Given the description of an element on the screen output the (x, y) to click on. 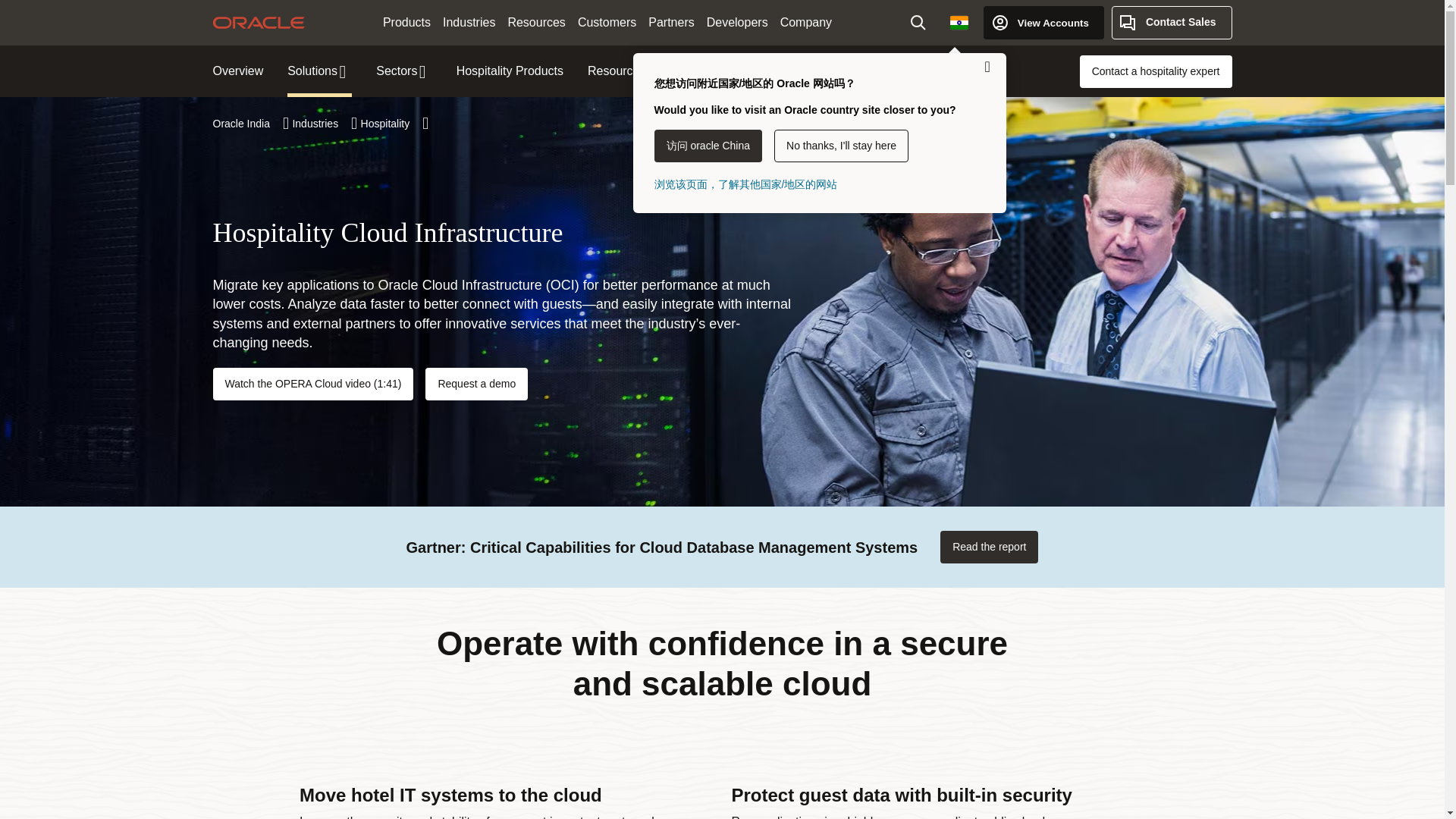
Industries (468, 22)
Overview (237, 71)
No thanks, I'll stay here (841, 145)
View Accounts (1043, 22)
Contact Sales (1171, 22)
Company (806, 22)
Country (958, 22)
Partners (671, 22)
Customers (607, 22)
Developers (737, 22)
